Given the description of an element on the screen output the (x, y) to click on. 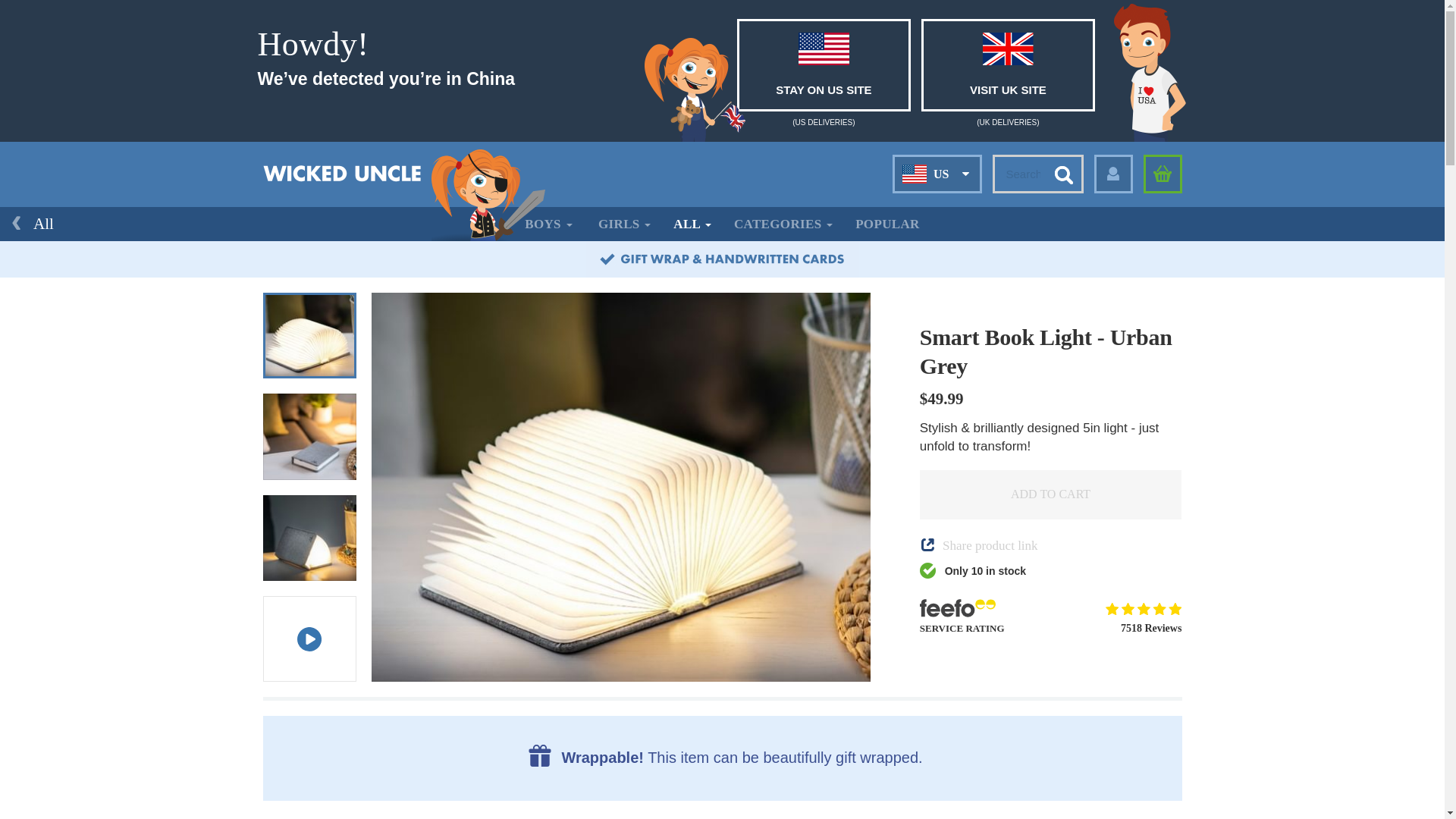
UK (936, 207)
GIRLS (624, 223)
BOYS (548, 223)
